Given the description of an element on the screen output the (x, y) to click on. 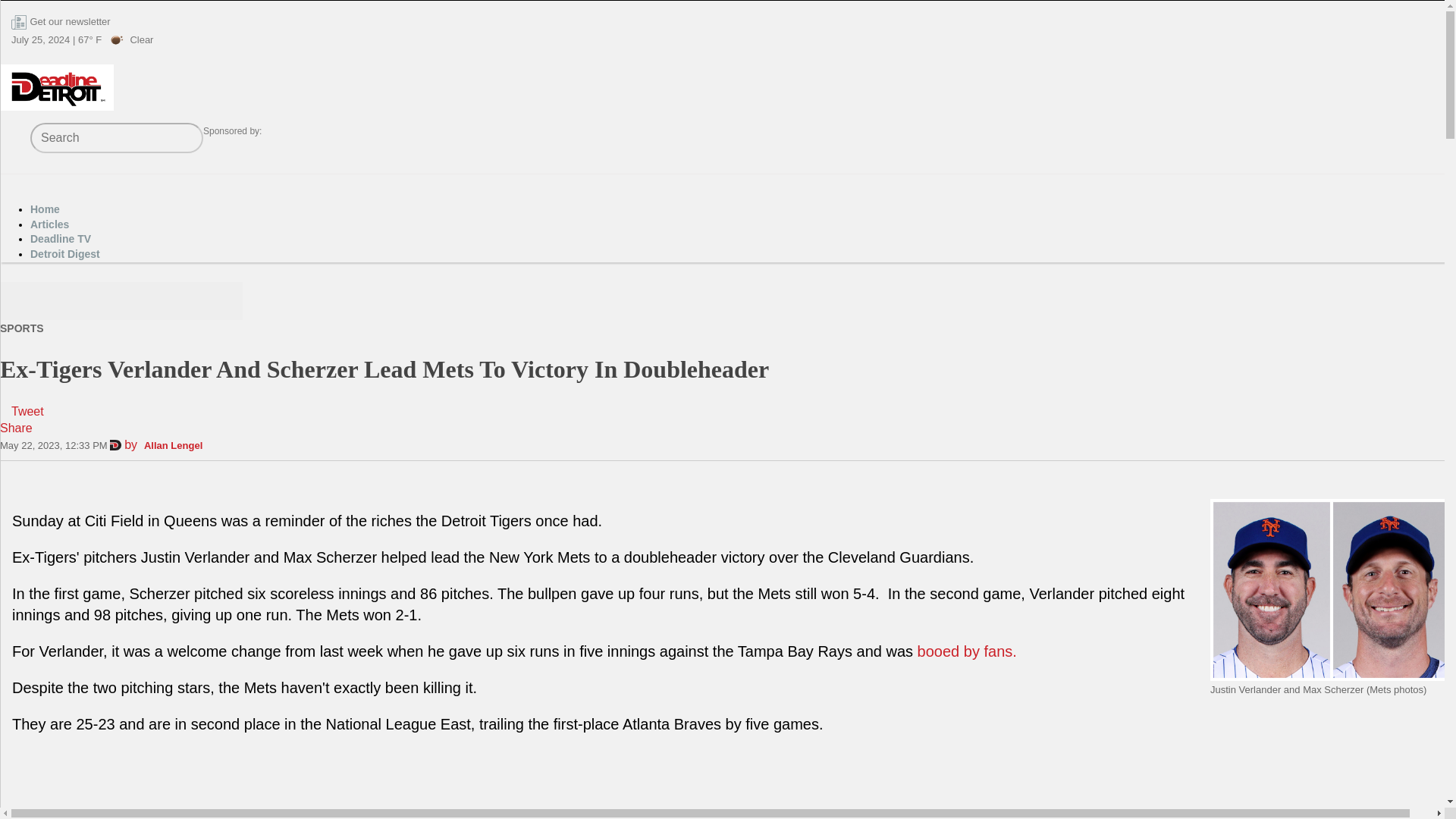
Home (44, 209)
Tweet (27, 410)
YouTube video player (284, 784)
Share (16, 427)
Detroit Digest (65, 254)
Articles (49, 224)
by  Allan Lengel (156, 444)
booed by fans.  (969, 651)
SPORTS (21, 328)
Get our newsletter (69, 21)
Deadline TV (60, 238)
